Given the description of an element on the screen output the (x, y) to click on. 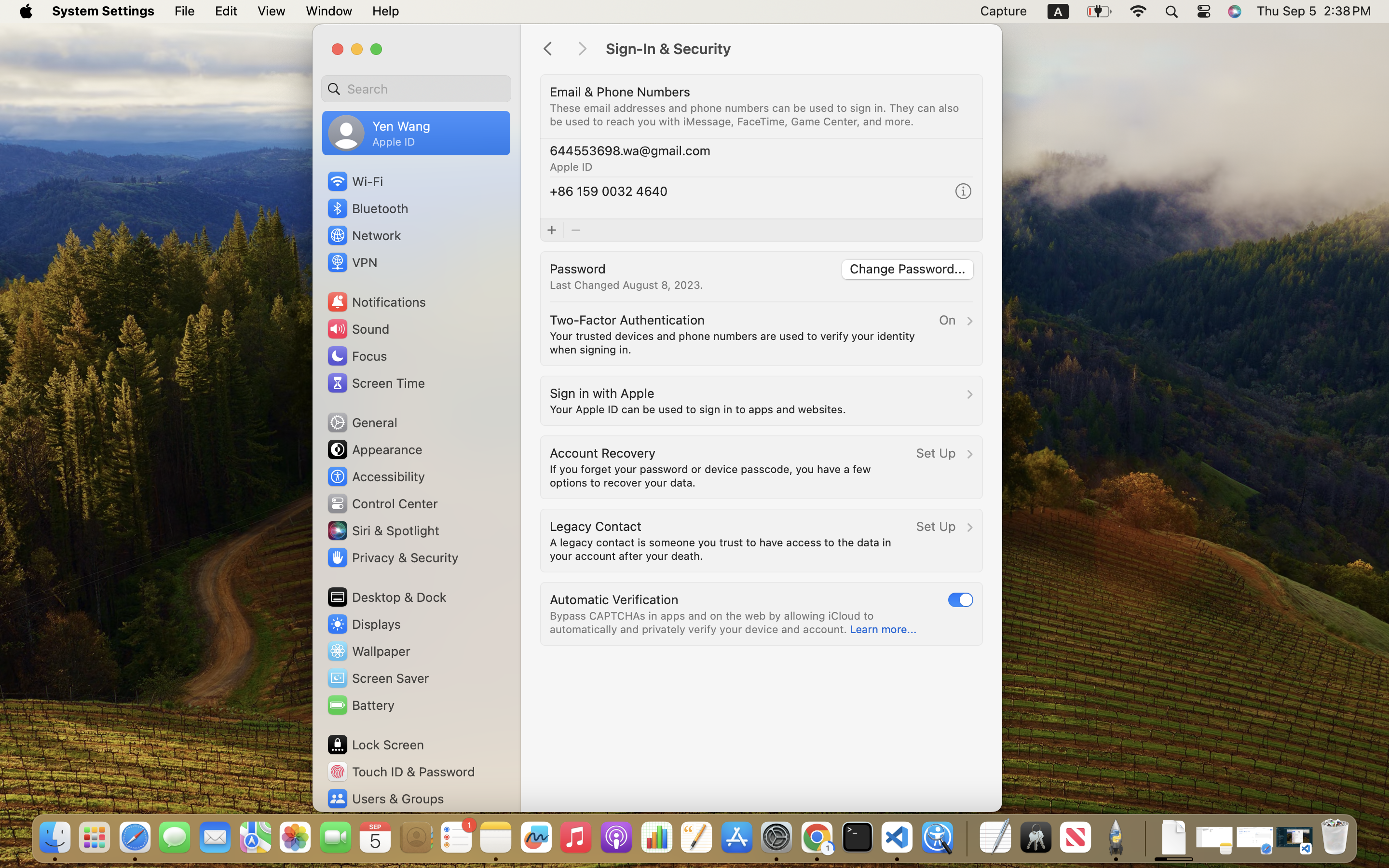
1 Element type: AXCheckBox (960, 599)
Screen Saver Element type: AXStaticText (377, 677)
Accessibility Element type: AXStaticText (375, 476)
Battery Element type: AXStaticText (360, 704)
Users & Groups Element type: AXStaticText (384, 798)
